Given the description of an element on the screen output the (x, y) to click on. 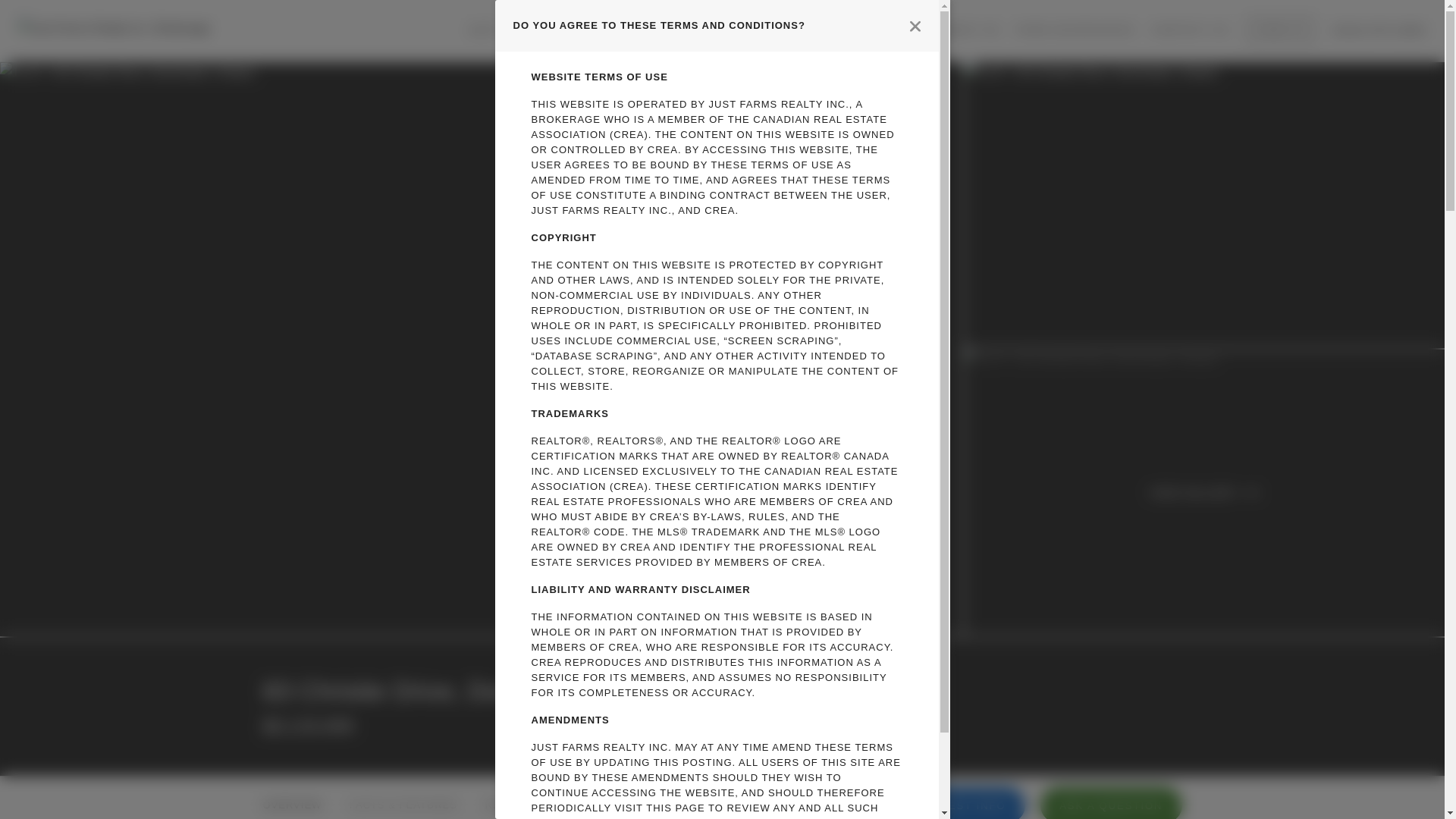
SOIL MAPS (889, 30)
ABOUT US (968, 30)
REQUEST INFO (960, 803)
DROPDOWN ARROW (738, 30)
SIGN IN (1280, 30)
FARM SEARCH DROPDOWN ARROW (692, 30)
OVERVIEW (291, 797)
JUST LISTED (505, 30)
ASK A QUESTION (1110, 803)
LAND VALUES (799, 30)
